Given the description of an element on the screen output the (x, y) to click on. 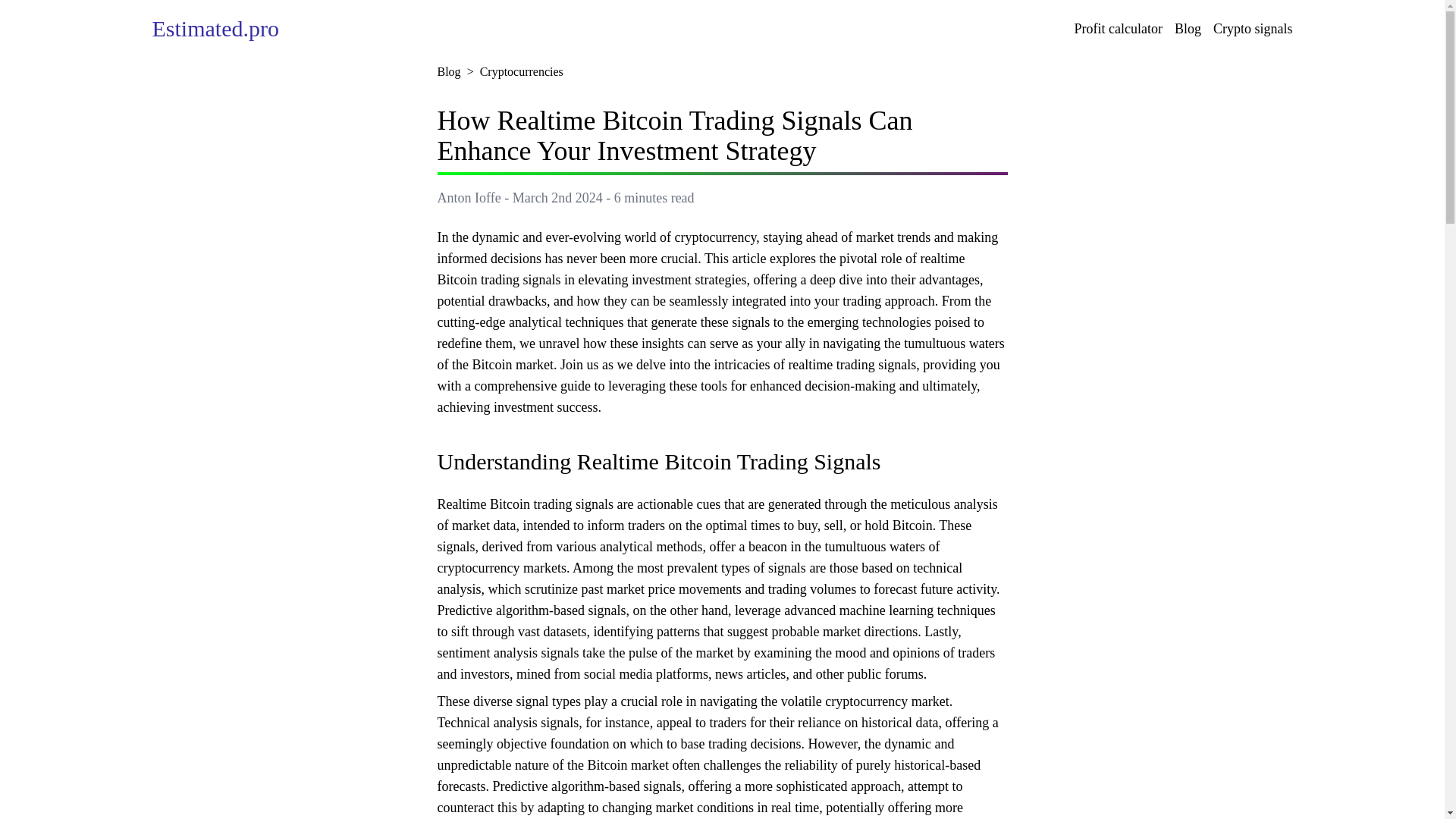
Blog (448, 72)
Profit calculator (1117, 28)
Cryptocurrencies (521, 72)
Blog (1187, 28)
Estimated.pro (214, 27)
Crypto signals (1252, 28)
